Given the description of an element on the screen output the (x, y) to click on. 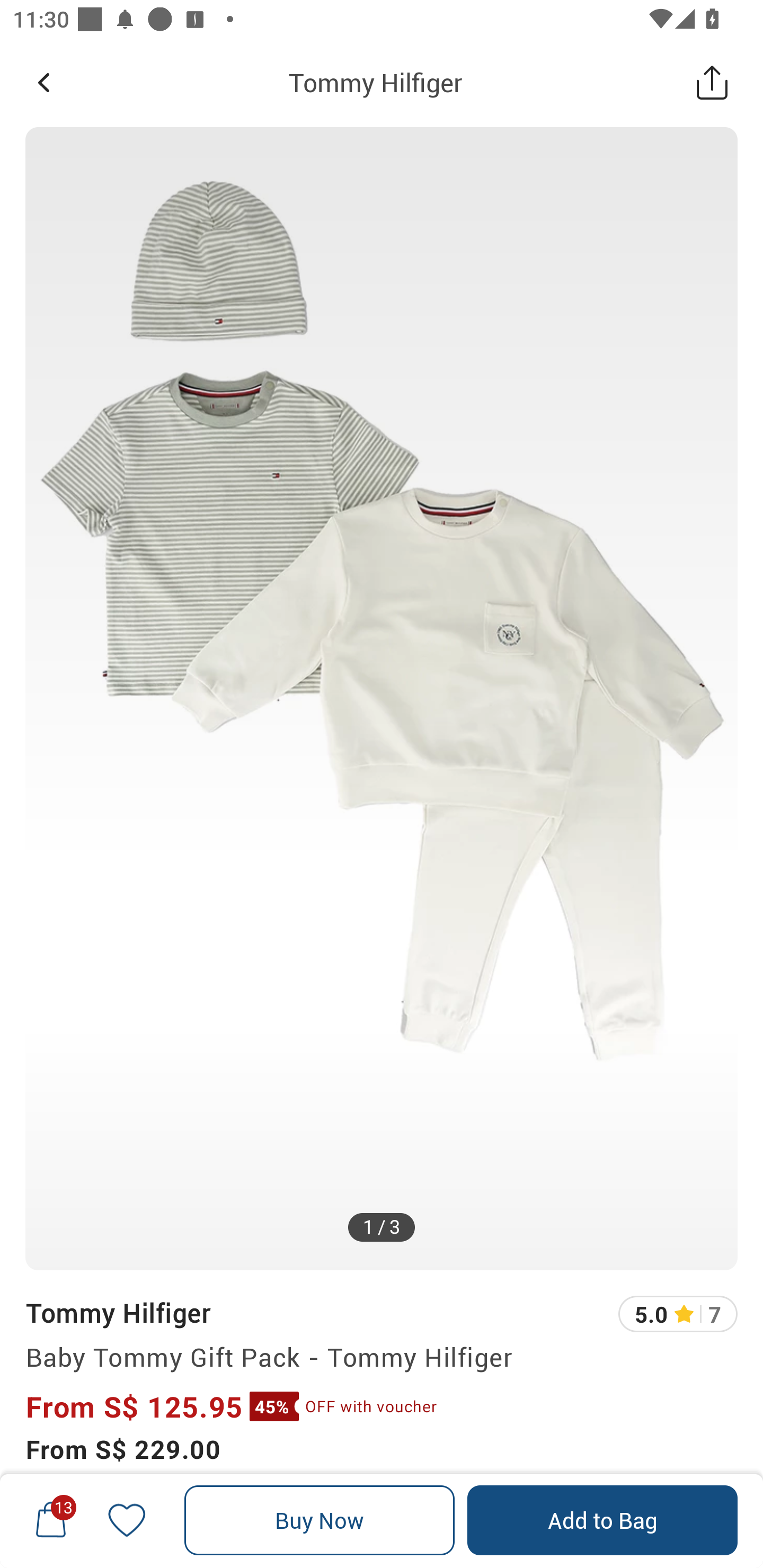
Tommy Hilfiger (375, 82)
Share this Product (711, 82)
Tommy Hilfiger (117, 1312)
5.0 7 (677, 1313)
Buy Now (319, 1519)
Add to Bag (601, 1519)
13 (50, 1520)
